Given the description of an element on the screen output the (x, y) to click on. 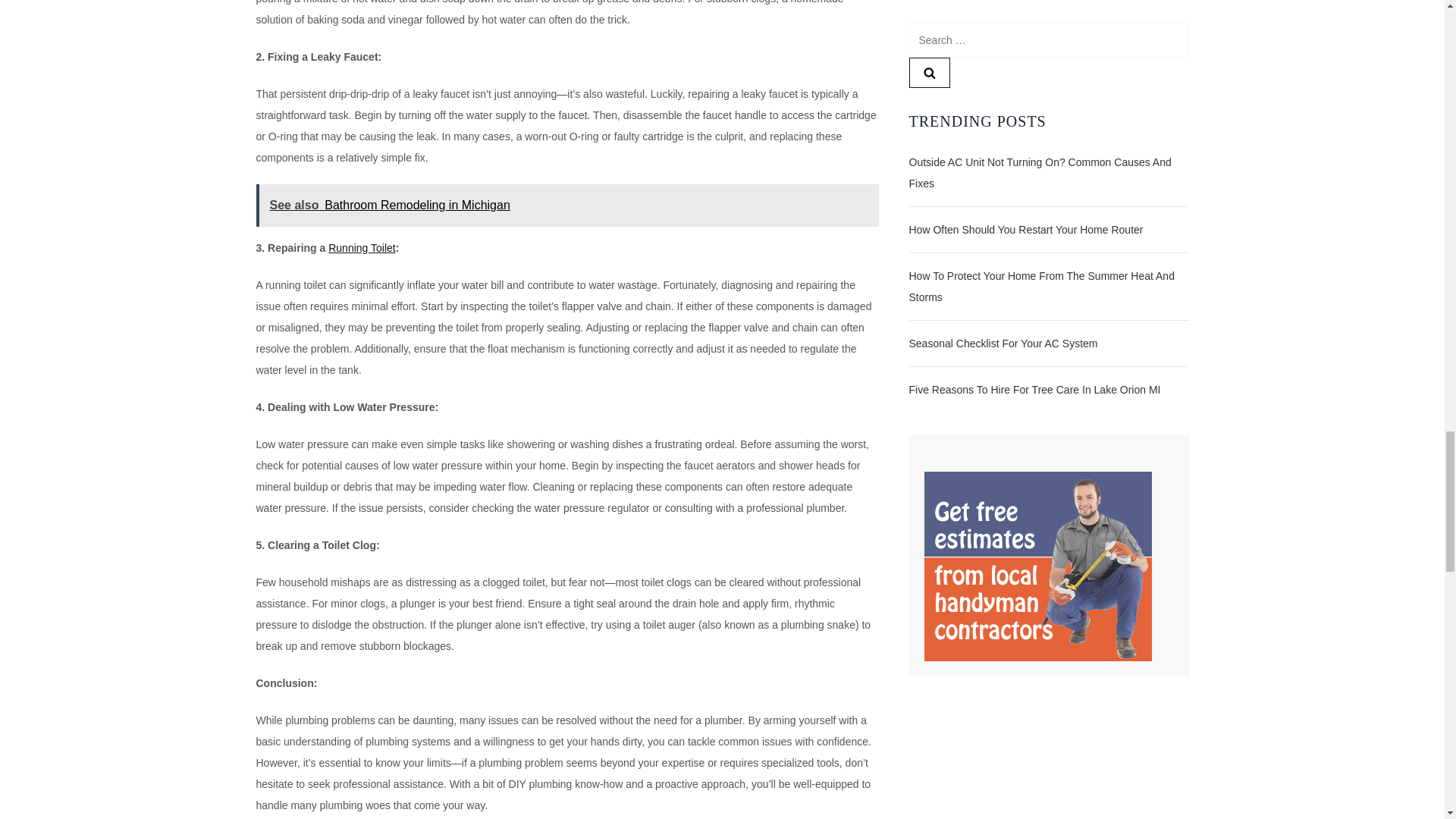
See also  Bathroom Remodeling in Michigan (567, 205)
Running Toilet (361, 247)
